Given the description of an element on the screen output the (x, y) to click on. 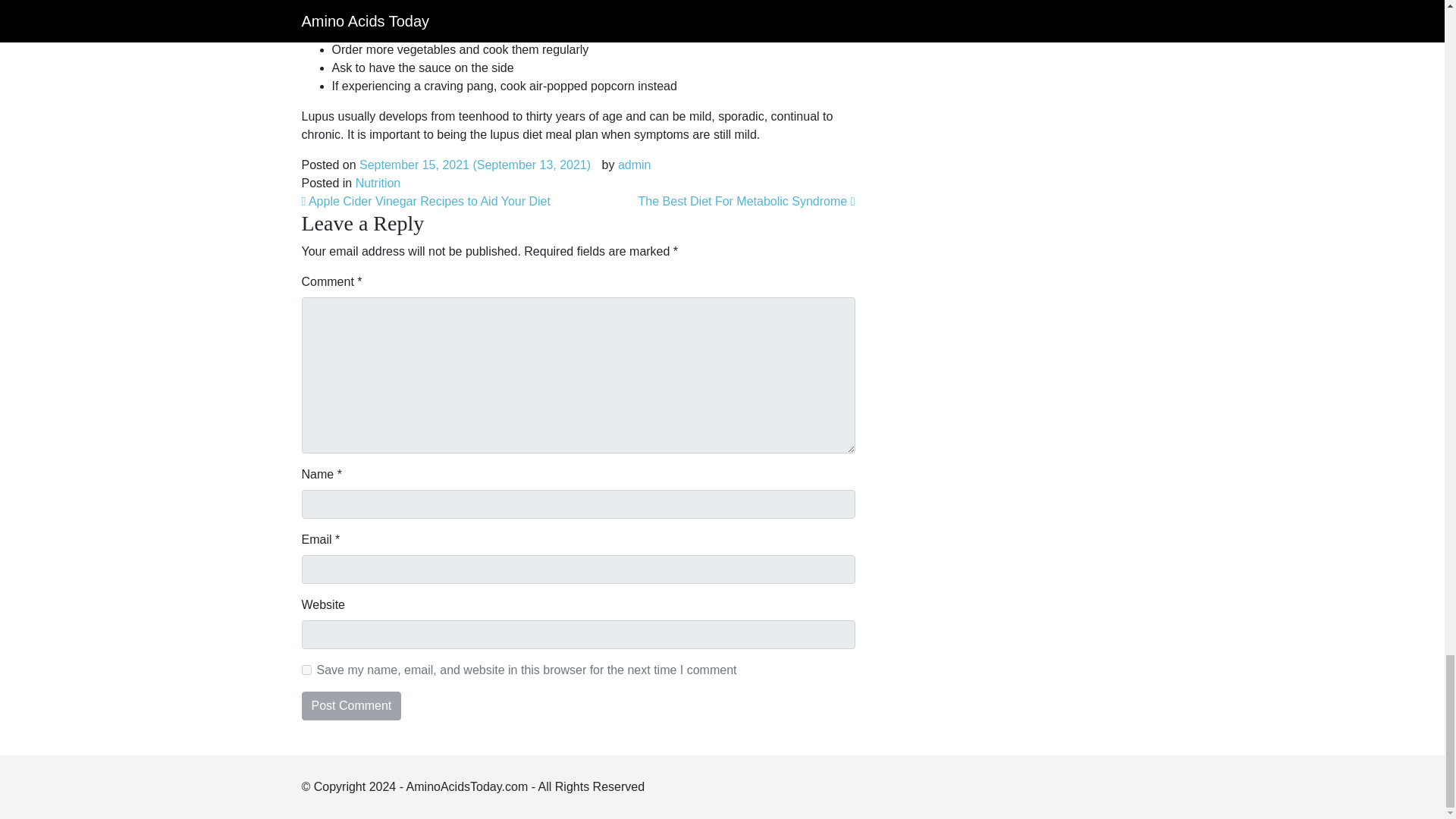
Post Comment (351, 705)
Nutrition (378, 182)
 Apple Cider Vinegar Recipes to Aid Your Diet (425, 201)
admin (633, 164)
Post Comment (351, 705)
The Best Diet For Metabolic Syndrome  (747, 201)
yes (306, 669)
